Given the description of an element on the screen output the (x, y) to click on. 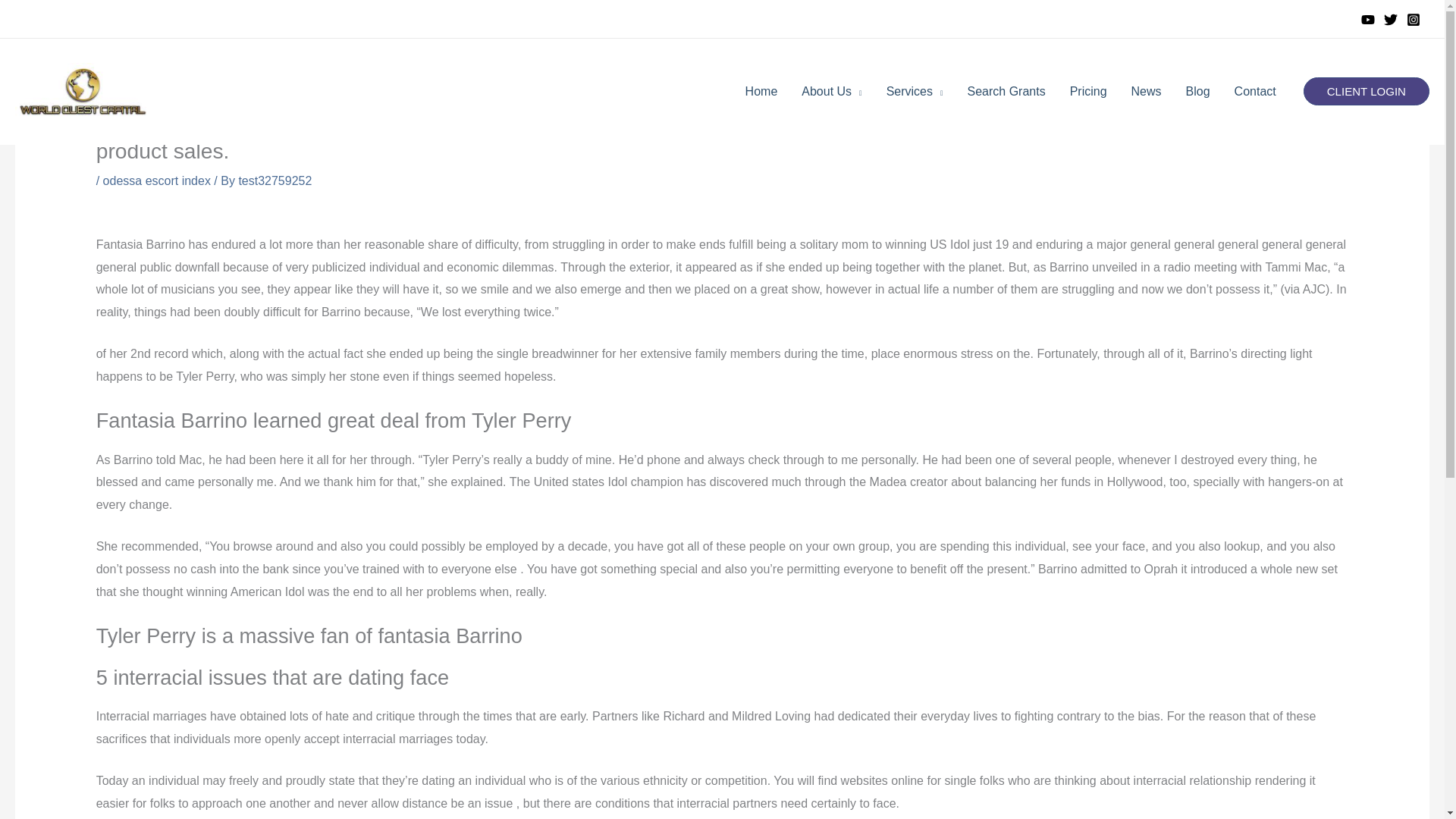
News (1146, 91)
Home (761, 91)
Search Grants (1006, 91)
About Us (831, 91)
Blog (1198, 91)
Contact (1255, 91)
CLIENT LOGIN (1366, 90)
Services (915, 91)
View all posts by test32759252 (274, 180)
Pricing (1088, 91)
